Given the description of an element on the screen output the (x, y) to click on. 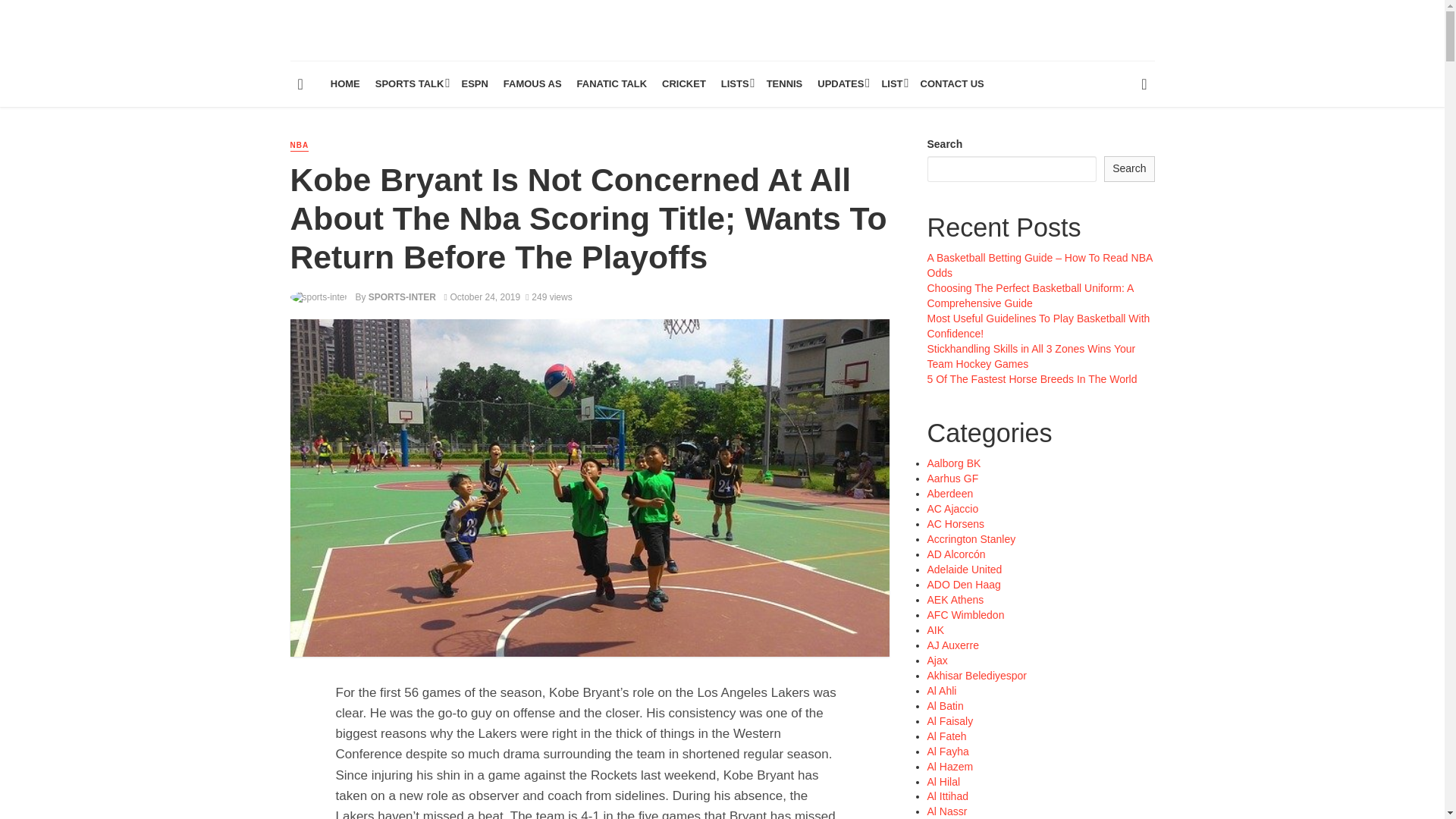
FANATIC TALK (612, 84)
Posts by sports-inter (401, 296)
UPDATES (841, 84)
CRICKET (683, 84)
FAMOUS AS (532, 84)
LISTS (735, 84)
October 24, 2019 at 11:04 am (482, 296)
SPORTS TALK (411, 84)
ESPN (473, 84)
TENNIS (784, 84)
HOME (345, 84)
